Given the description of an element on the screen output the (x, y) to click on. 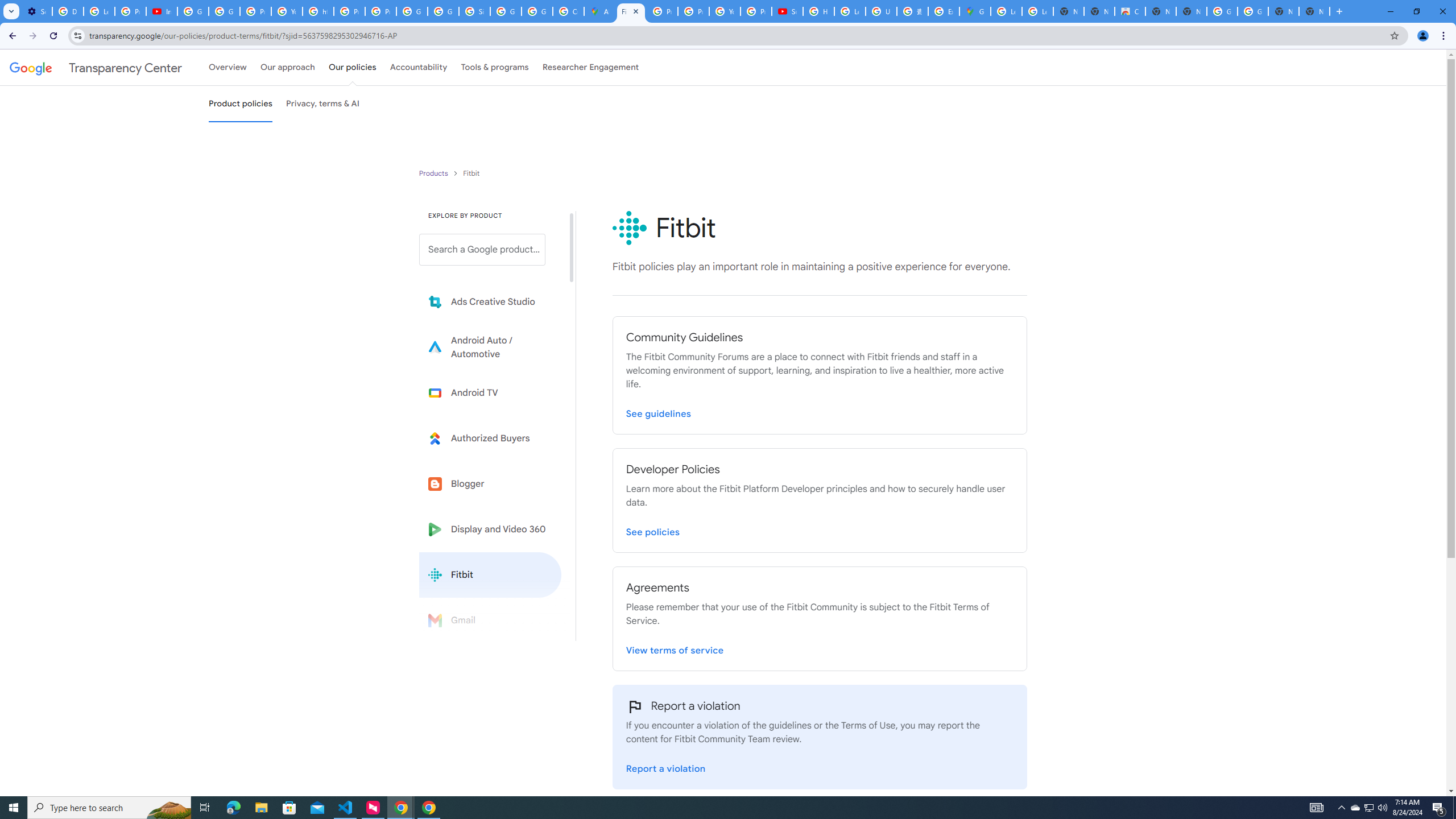
YouTube (286, 11)
Display and Video 360 (490, 529)
Google Account Help (192, 11)
Chrome Web Store (1129, 11)
New Tab (1314, 11)
Accountability (418, 67)
Subscriptions - YouTube (787, 11)
Sign in - Google Accounts (474, 11)
Our policies (351, 67)
